Given the description of an element on the screen output the (x, y) to click on. 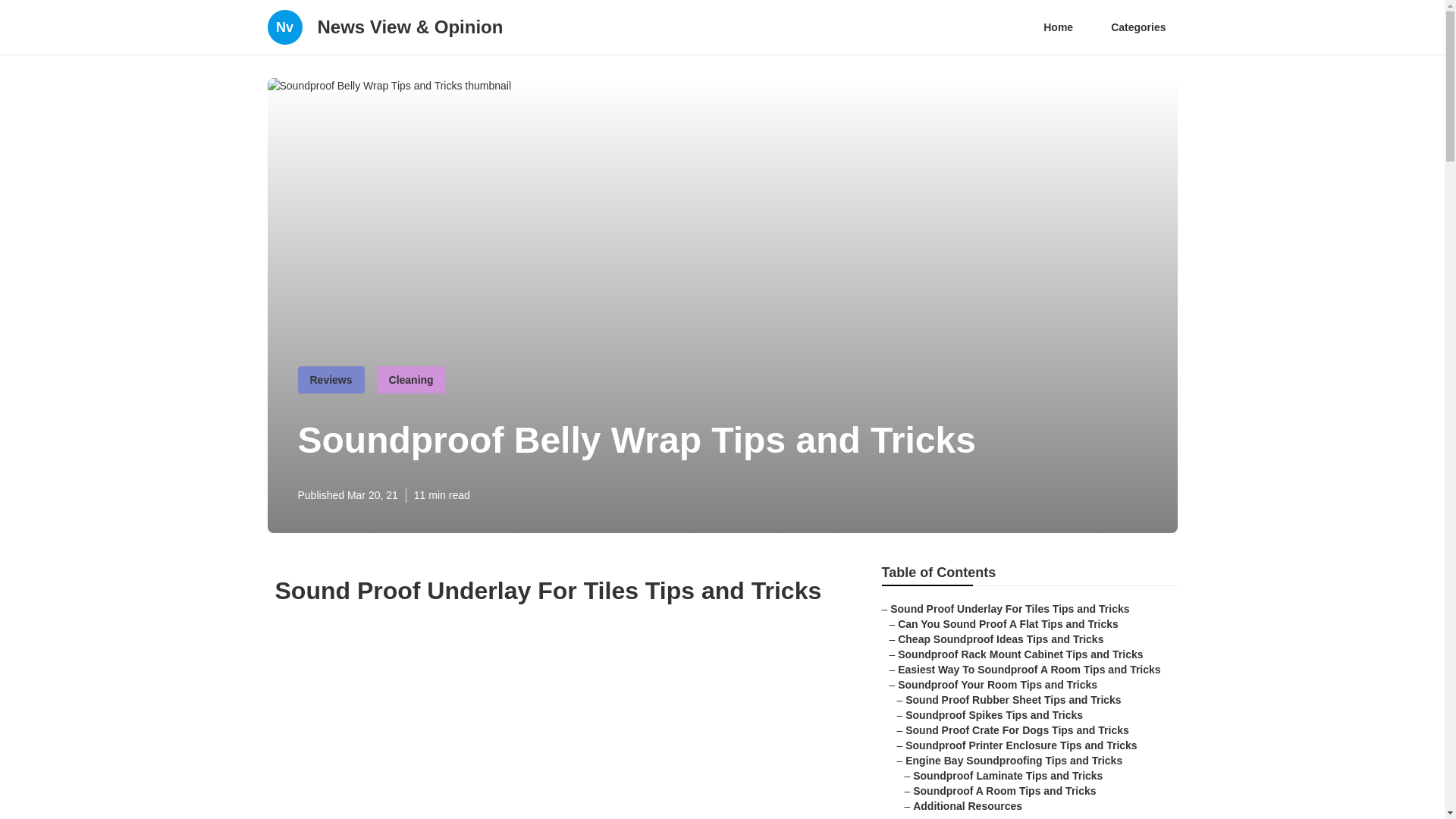
Cleaning (410, 379)
Categories (1137, 27)
Reviews (330, 379)
Home (1058, 27)
